Given the description of an element on the screen output the (x, y) to click on. 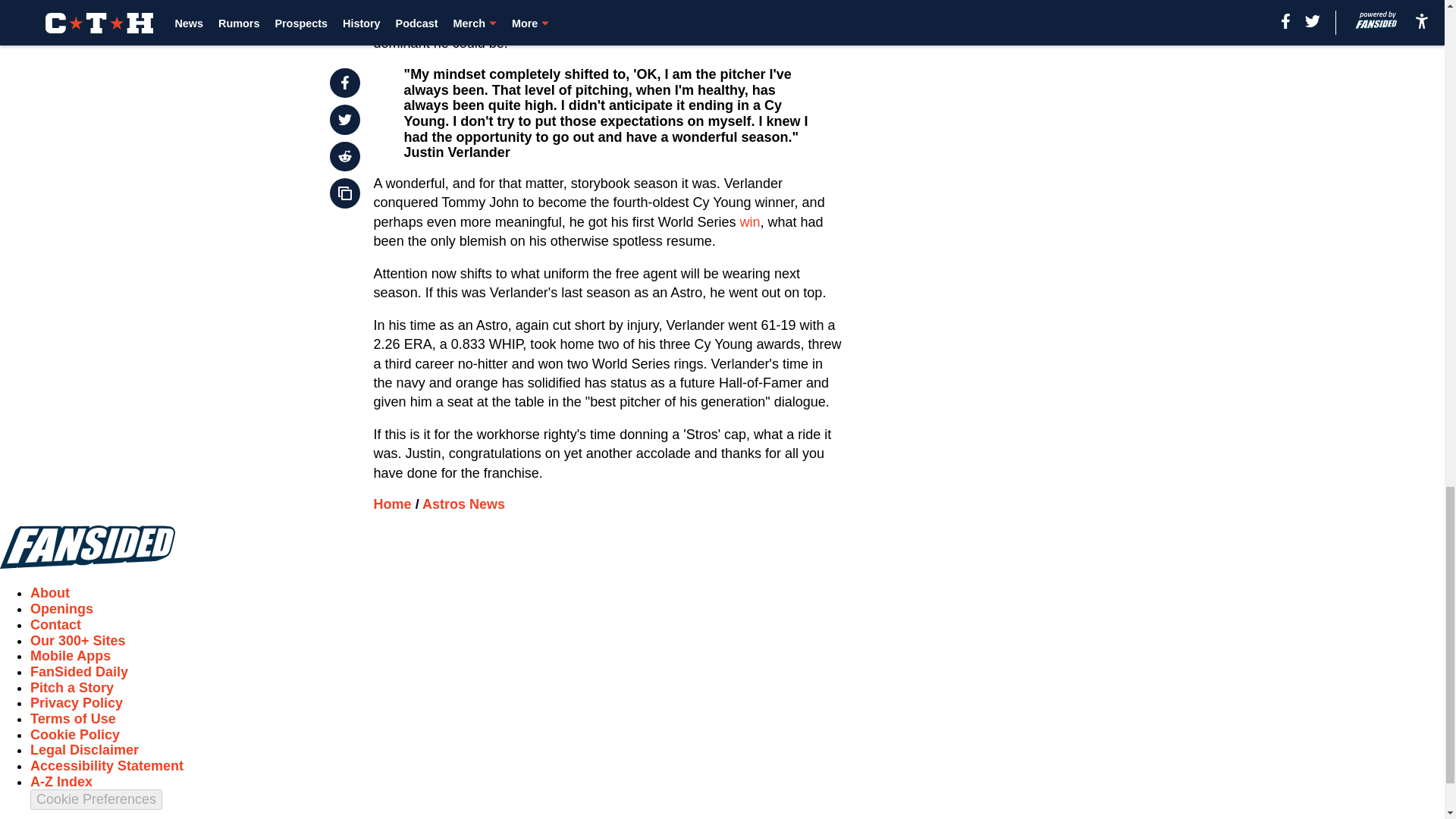
Home (393, 503)
win (749, 221)
Astros News (463, 503)
